Given the description of an element on the screen output the (x, y) to click on. 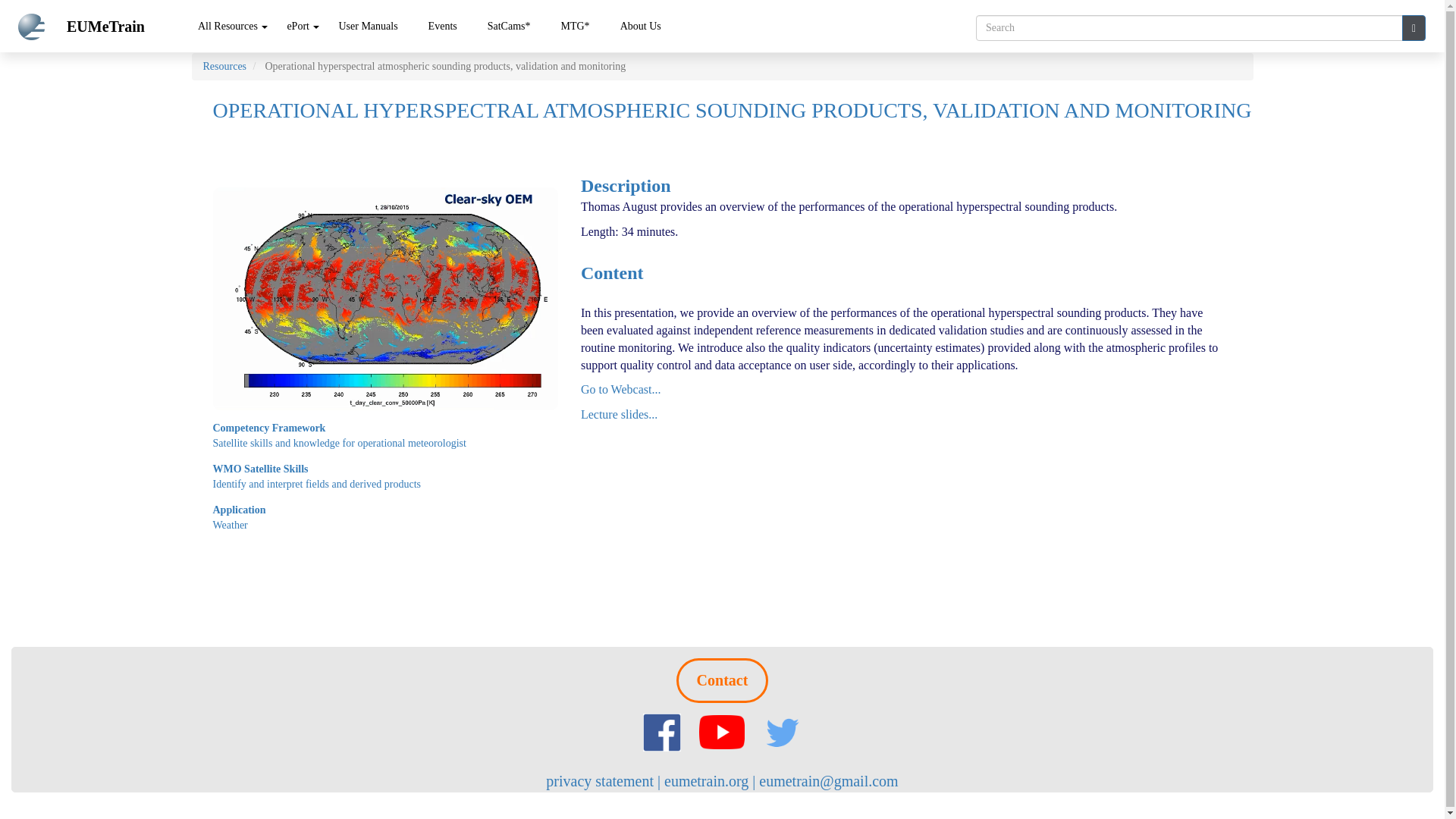
Search (1413, 27)
About Us (640, 26)
Identify and interpret fields and derived products (316, 483)
Resources (225, 66)
Link to the old website (508, 26)
User Manuals (367, 26)
Link to the old website (573, 26)
Go to Webcast... (620, 389)
Events (442, 26)
Contact (722, 680)
Home (36, 26)
privacy statement (599, 781)
eumetrain.org (705, 781)
EUMeTrain (124, 26)
